Given the description of an element on the screen output the (x, y) to click on. 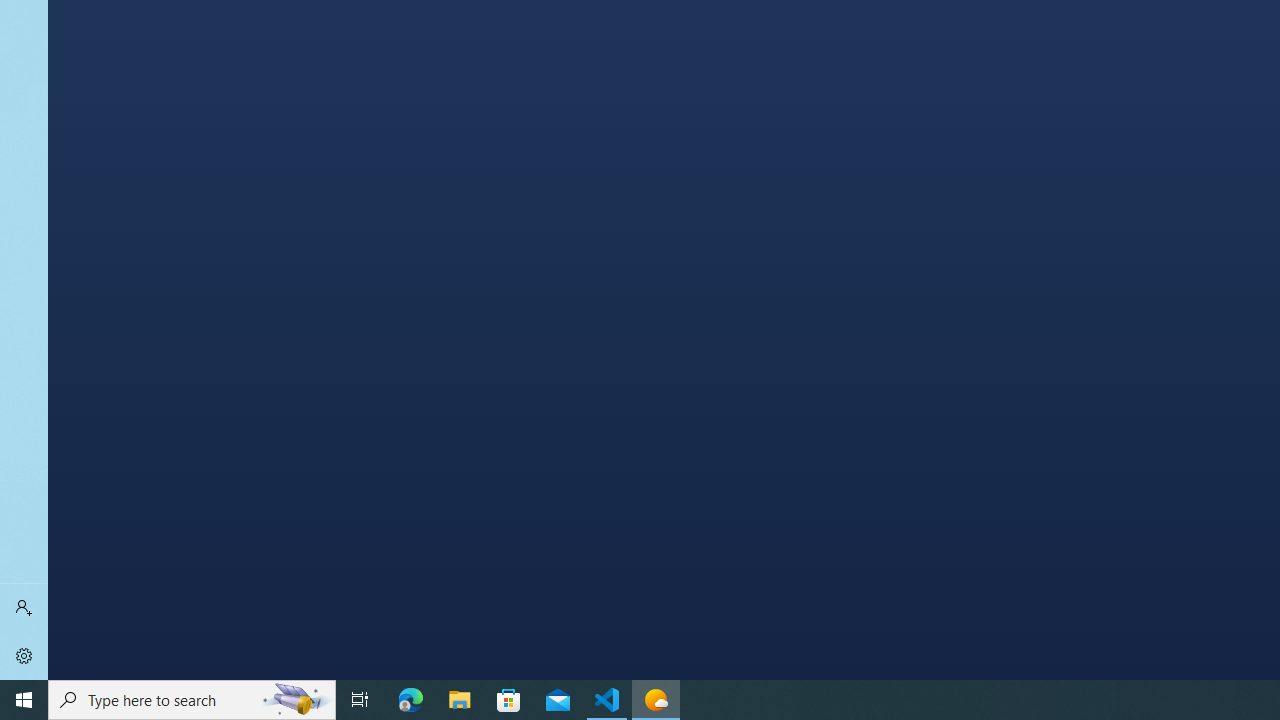
Settings (24, 655)
Sign in (24, 607)
Weather - 1 running window (656, 699)
